Given the description of an element on the screen output the (x, y) to click on. 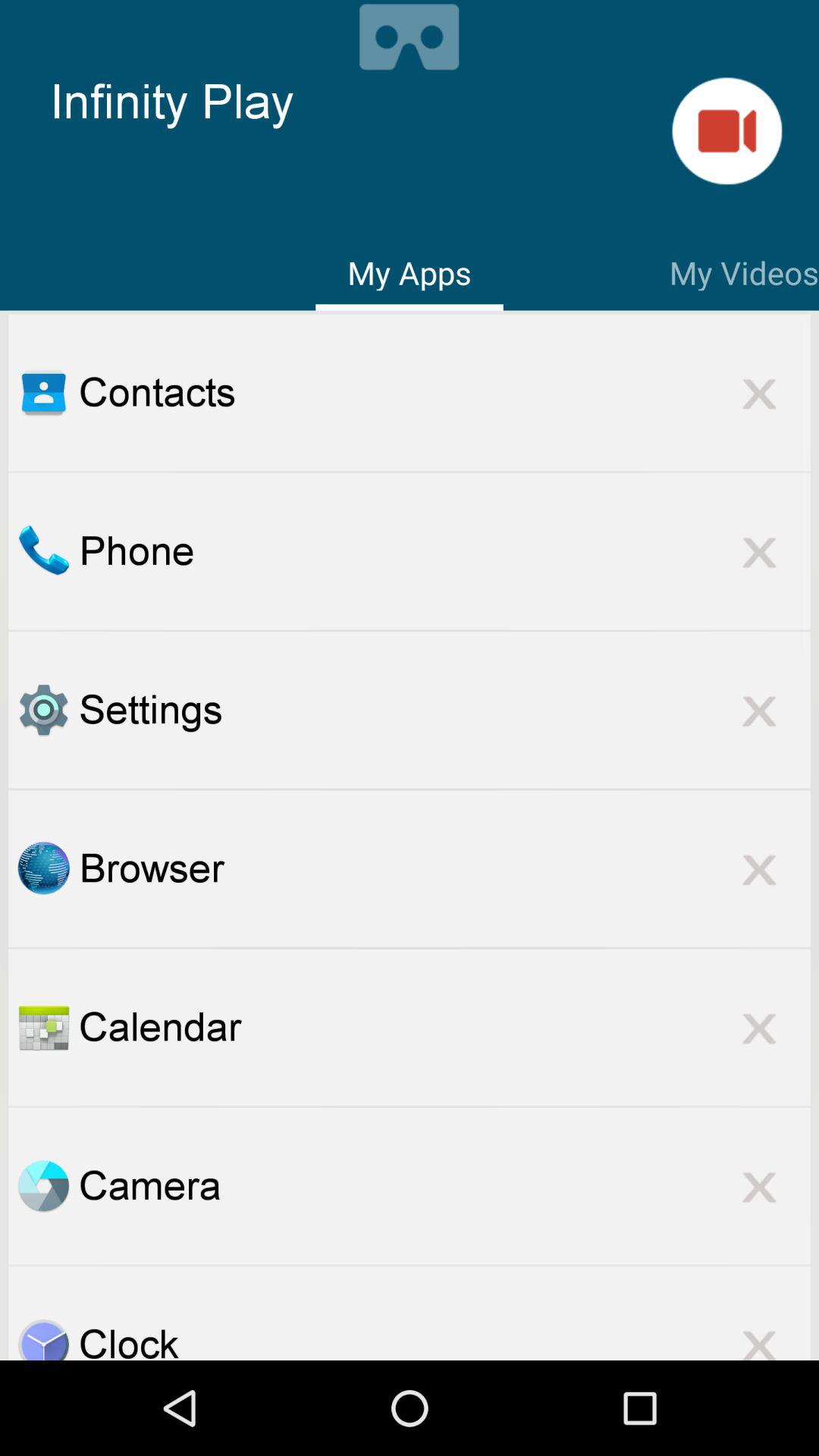
close (759, 392)
